Given the description of an element on the screen output the (x, y) to click on. 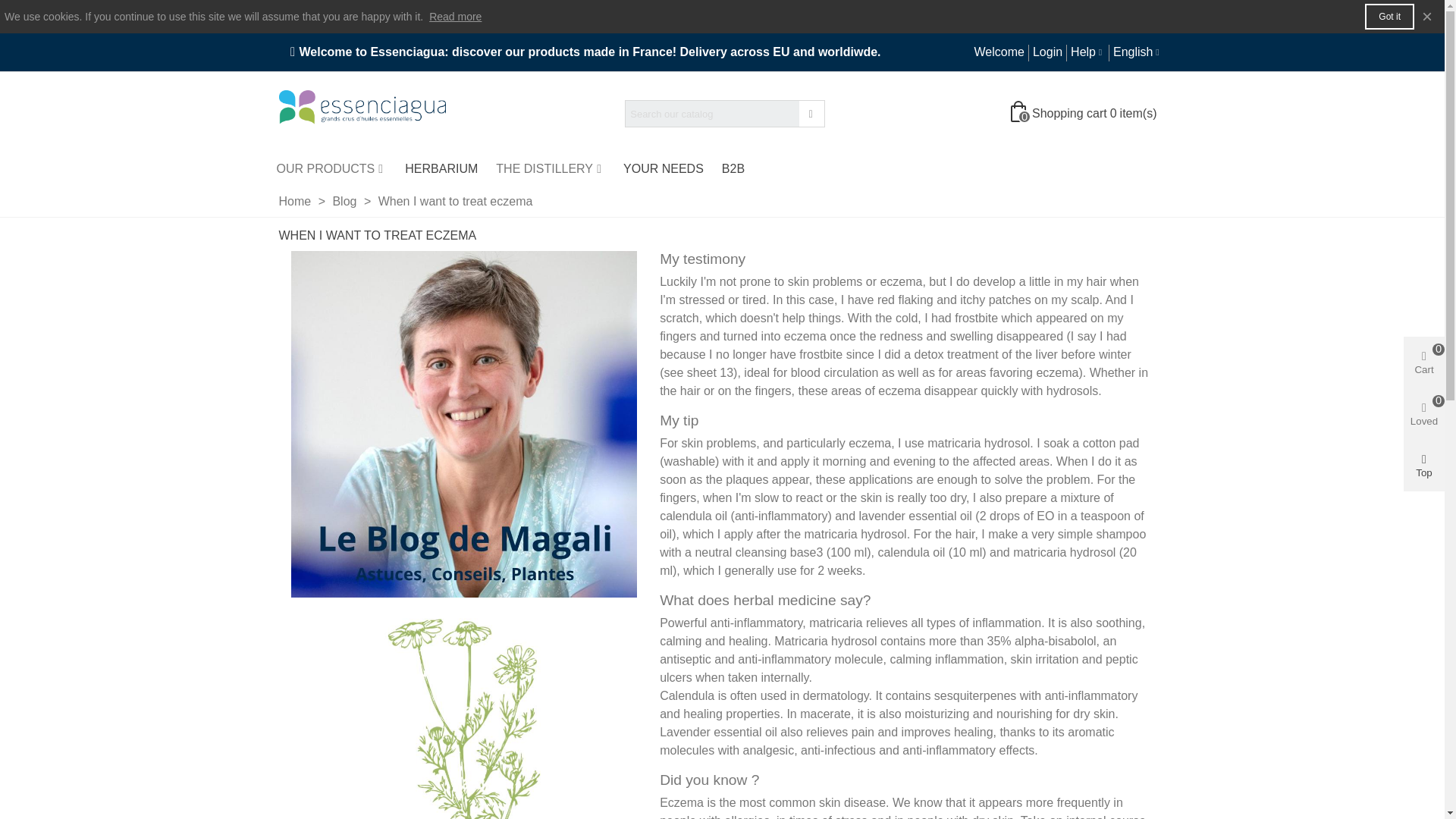
Log in to your customer account (1046, 52)
Got it (1389, 16)
OUR PRODUCTS (331, 168)
Read more (455, 16)
HERBARIUM (441, 168)
THE DISTILLERY (550, 168)
Got it (1389, 16)
Login (1046, 52)
View my shopping cart (1085, 113)
Essenciagua (362, 114)
Read more (455, 16)
